Given the description of an element on the screen output the (x, y) to click on. 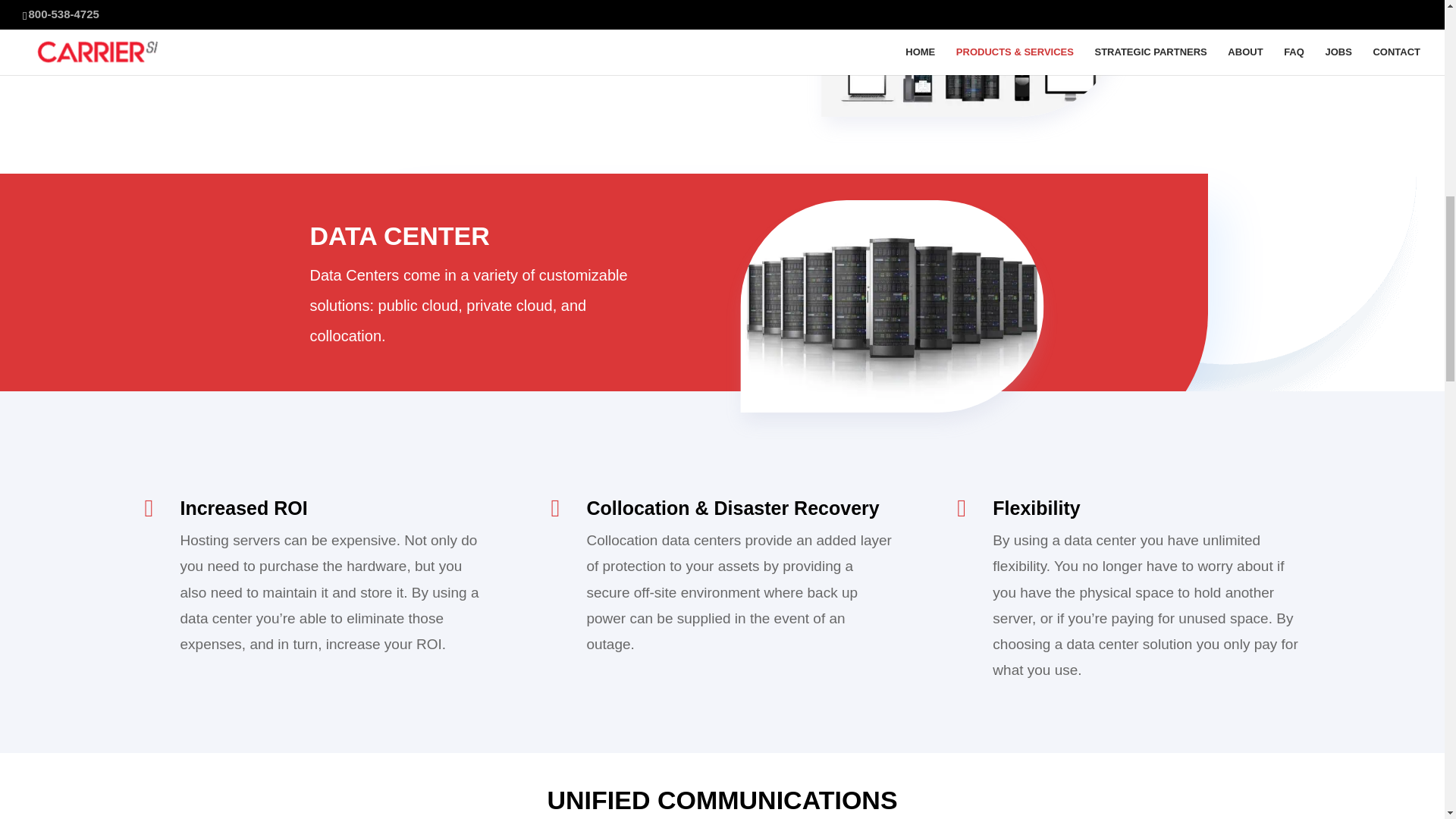
Data Center (930, 332)
Cloud Technology (1011, 84)
